Given the description of an element on the screen output the (x, y) to click on. 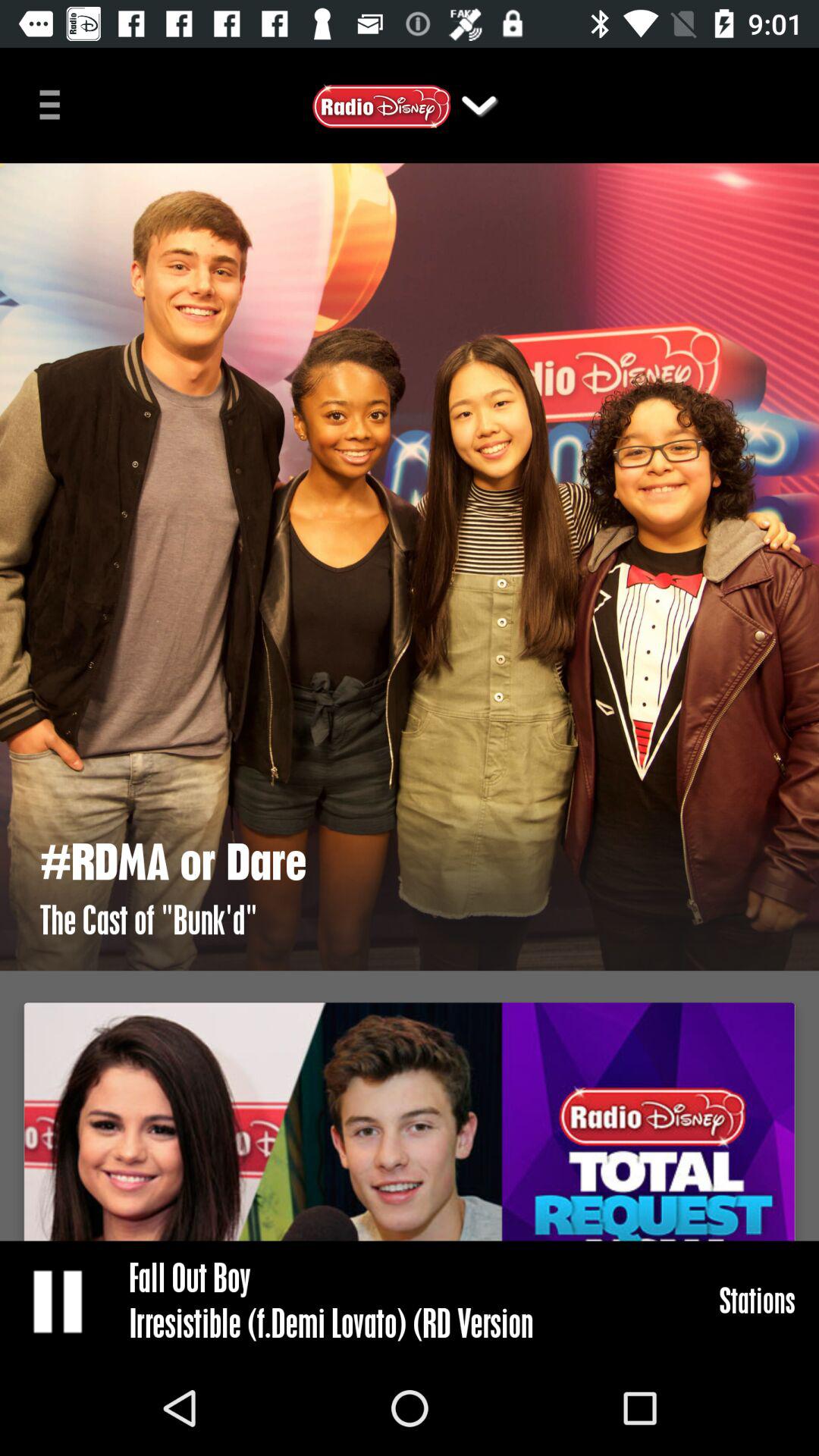
select the item next to the fall out boy icon (59, 1300)
